Given the description of an element on the screen output the (x, y) to click on. 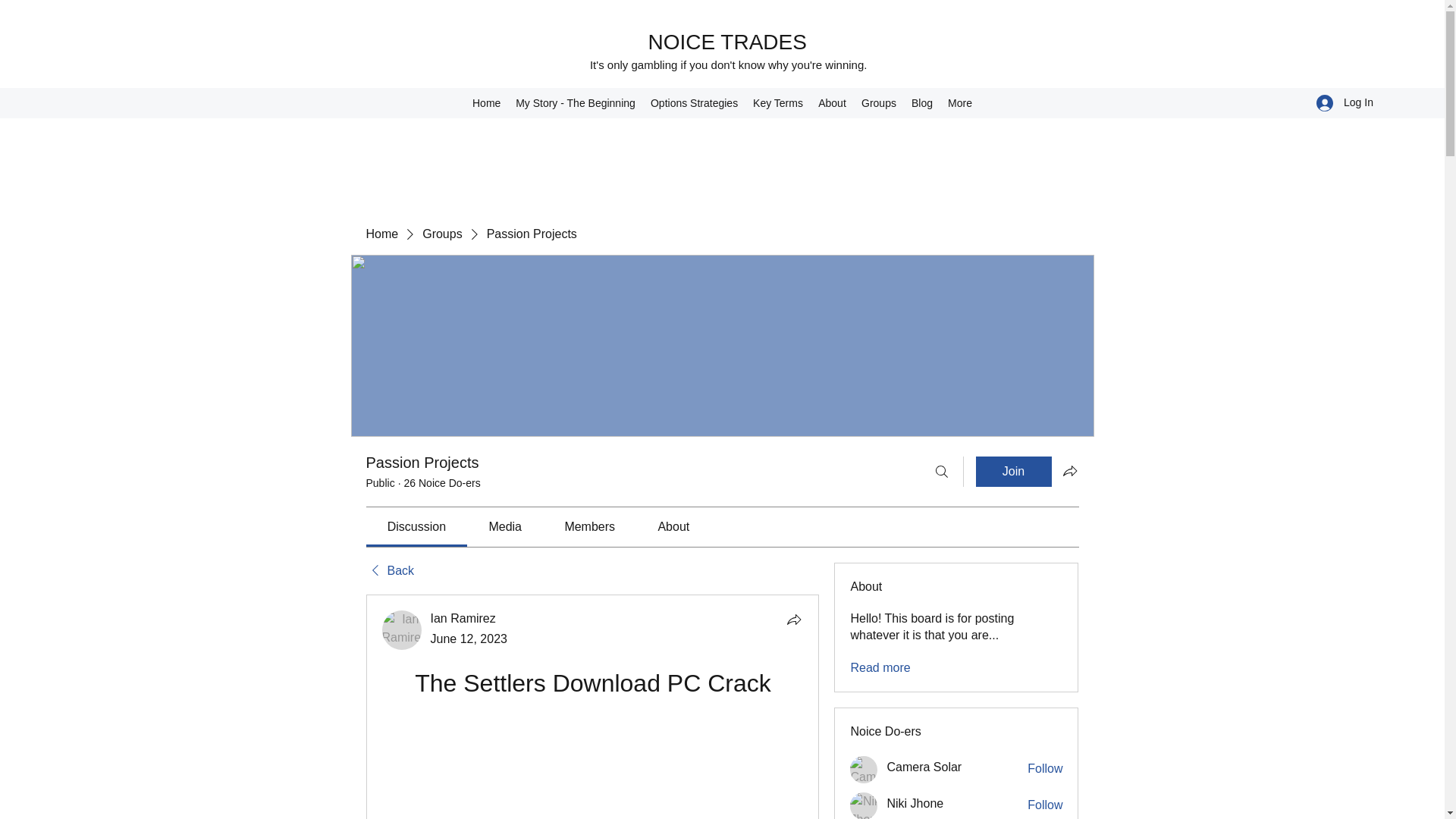
Follow (1044, 805)
Groups (878, 102)
Camera Solar (923, 767)
Home (381, 234)
Read more (880, 668)
Follow (1044, 768)
Blog (922, 102)
June 12, 2023 (468, 638)
Niki Jhone (863, 805)
Groups (441, 234)
